Given the description of an element on the screen output the (x, y) to click on. 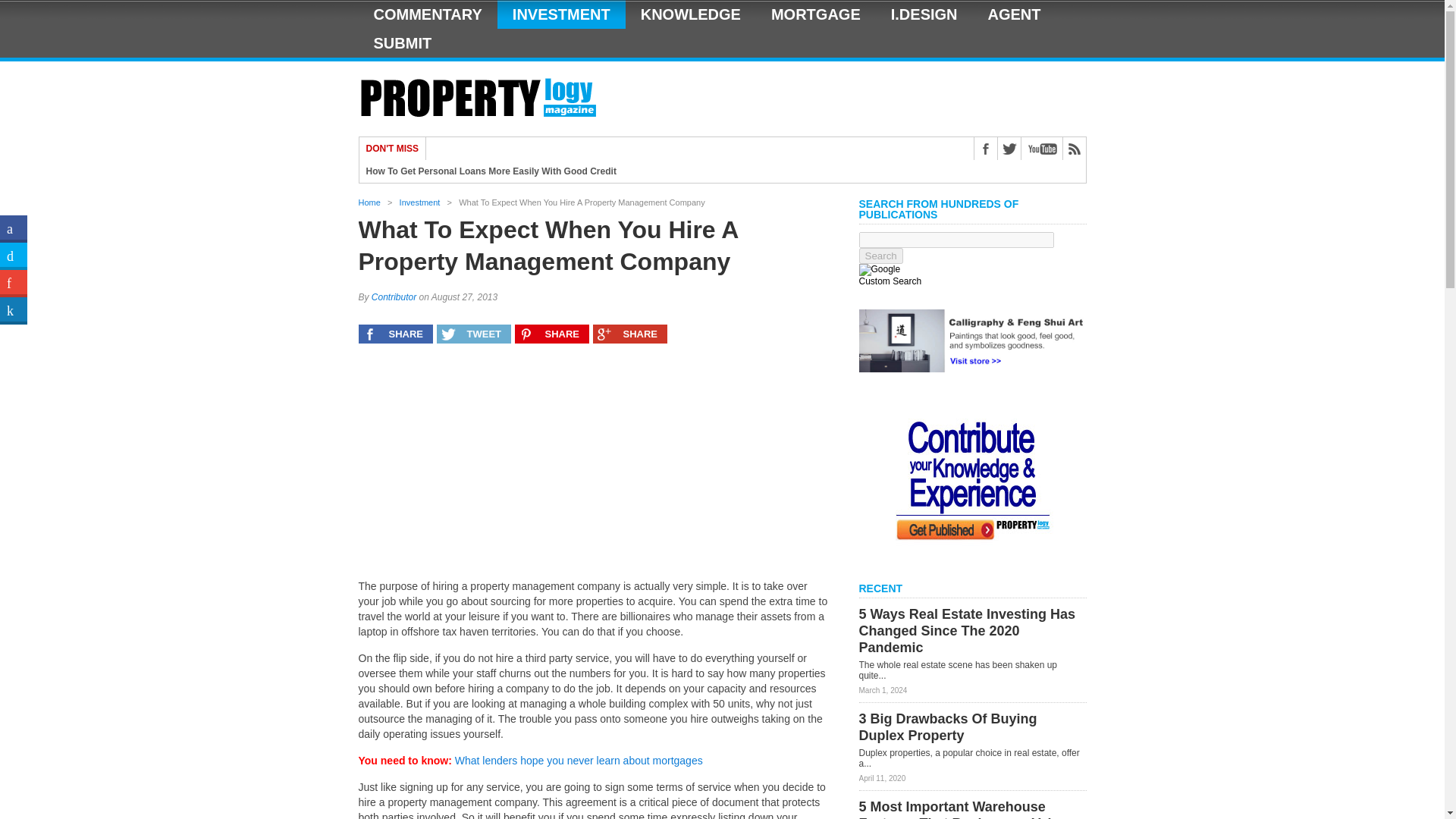
Contributor (393, 296)
I.DESIGN (924, 14)
Home (369, 202)
MORTGAGE (815, 14)
Advertisement (593, 468)
How To Get Personal Loans More Easily With Good Credit (490, 171)
What lenders hope you never learn about mortgages (578, 760)
Search (880, 255)
KNOWLEDGE (690, 14)
INVESTMENT (561, 14)
AGENT (1014, 14)
COMMENTARY (427, 14)
SUBMIT (402, 42)
Posts by Contributor (393, 296)
Investment (419, 202)
